Given the description of an element on the screen output the (x, y) to click on. 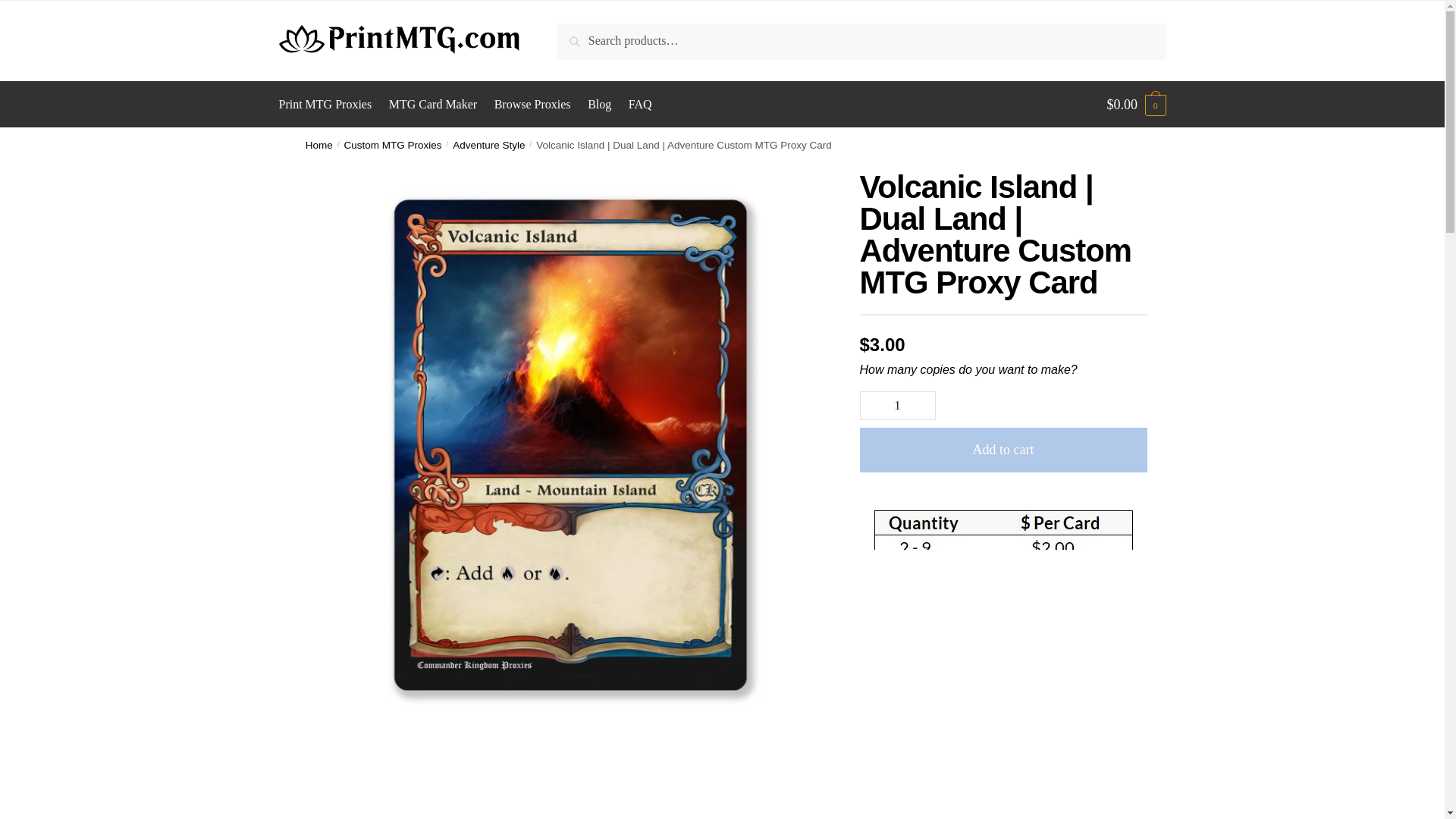
Browse Proxies (531, 104)
Add to cart (1003, 449)
1 (898, 405)
Custom MTG Proxies (392, 144)
Print MTG Proxies (328, 104)
Search (583, 36)
Home (319, 144)
Adventure Style (488, 144)
View your shopping cart (1136, 104)
MTG Card Maker (432, 104)
